Given the description of an element on the screen output the (x, y) to click on. 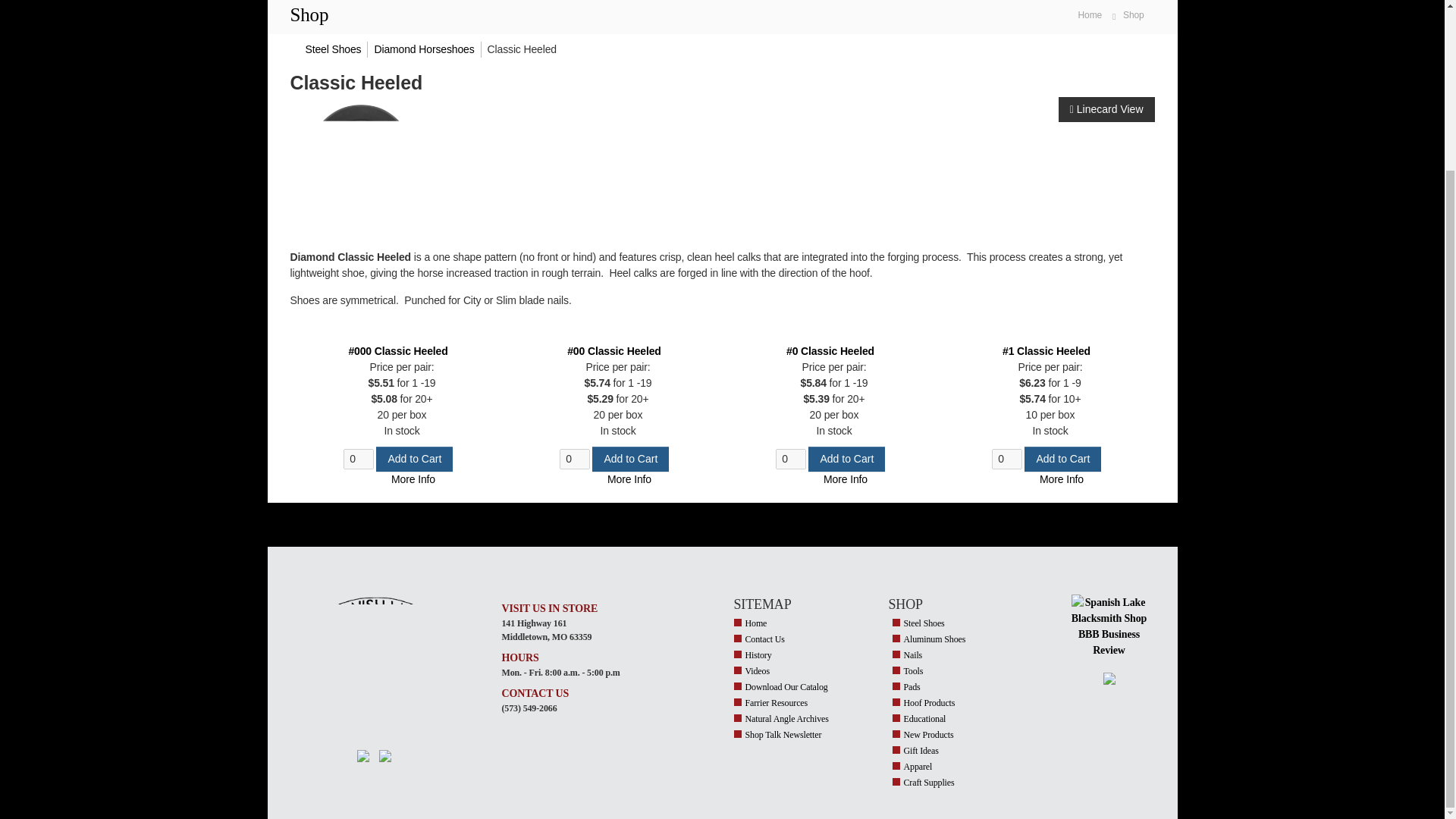
0 (358, 458)
Add to Cart (413, 458)
Add to Cart (846, 458)
Add to Cart (630, 458)
0 (791, 458)
0 (574, 458)
